Given the description of an element on the screen output the (x, y) to click on. 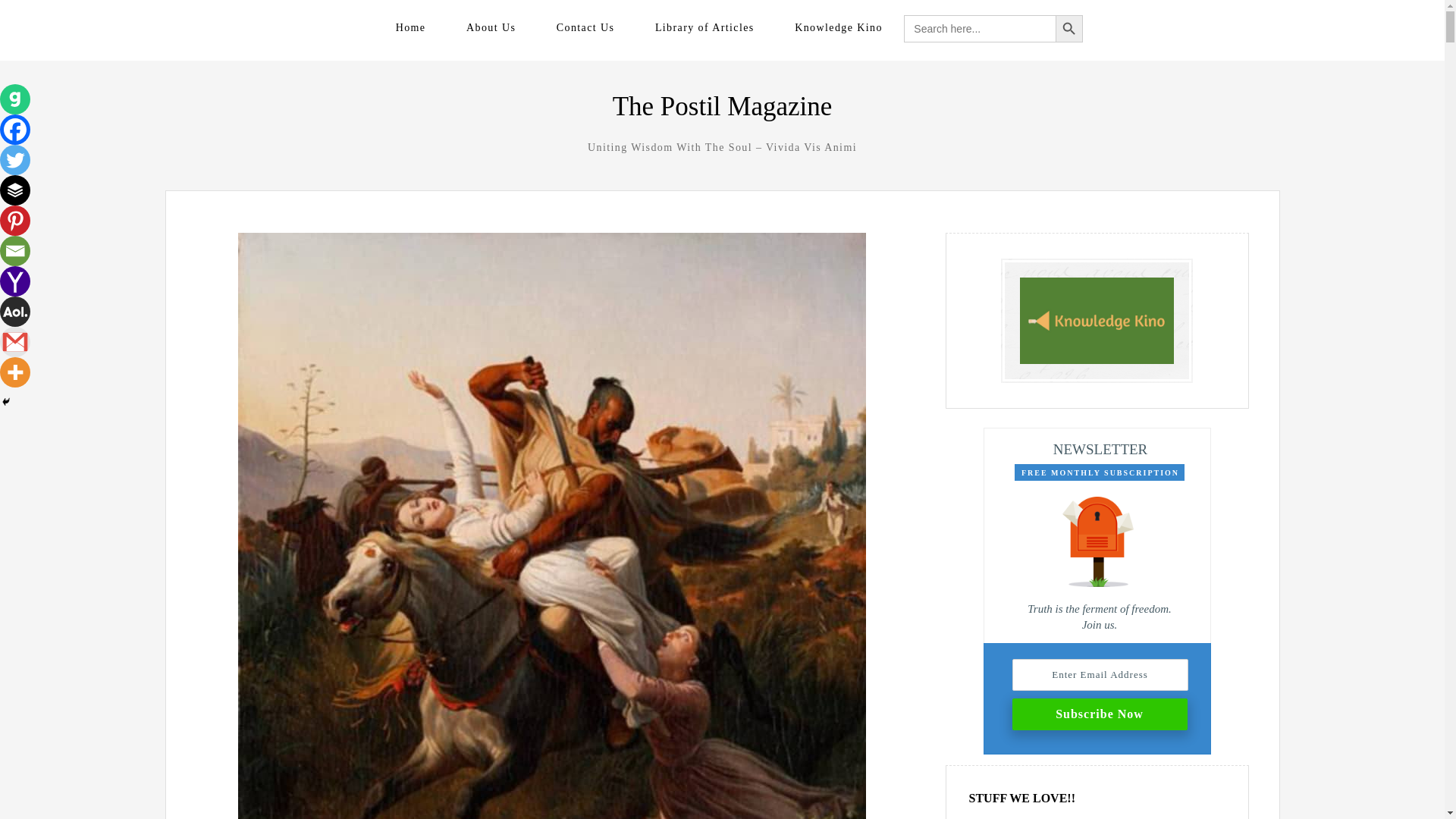
Skip to content (224, 26)
Knowledge Kino (838, 27)
Hide (5, 401)
Search Button (1069, 28)
More (15, 372)
Google Gmail (15, 341)
Contact Us (585, 27)
Yahoo Mail (15, 281)
About Us (490, 27)
Pinterest (15, 220)
AOL Mail (15, 311)
Email (15, 250)
Buffer (15, 190)
Twitter (15, 159)
Skip to content (224, 26)
